Given the description of an element on the screen output the (x, y) to click on. 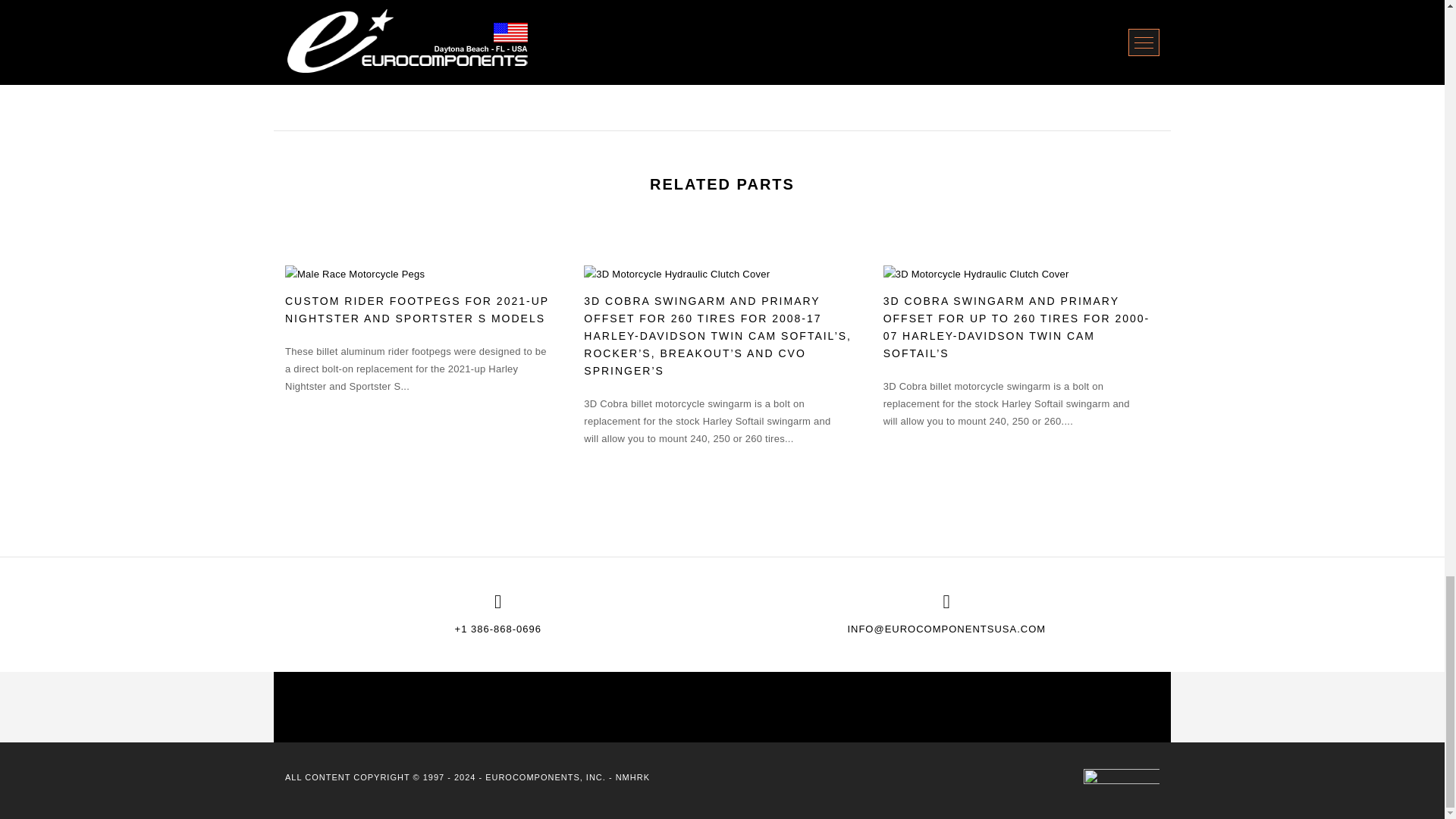
3D Motorcycle Hydraulic Clutch Cover (975, 273)
3D Motorcycle Hydraulic Clutch Cover (676, 273)
Male Race Motorcycle Pegs (355, 273)
